Given the description of an element on the screen output the (x, y) to click on. 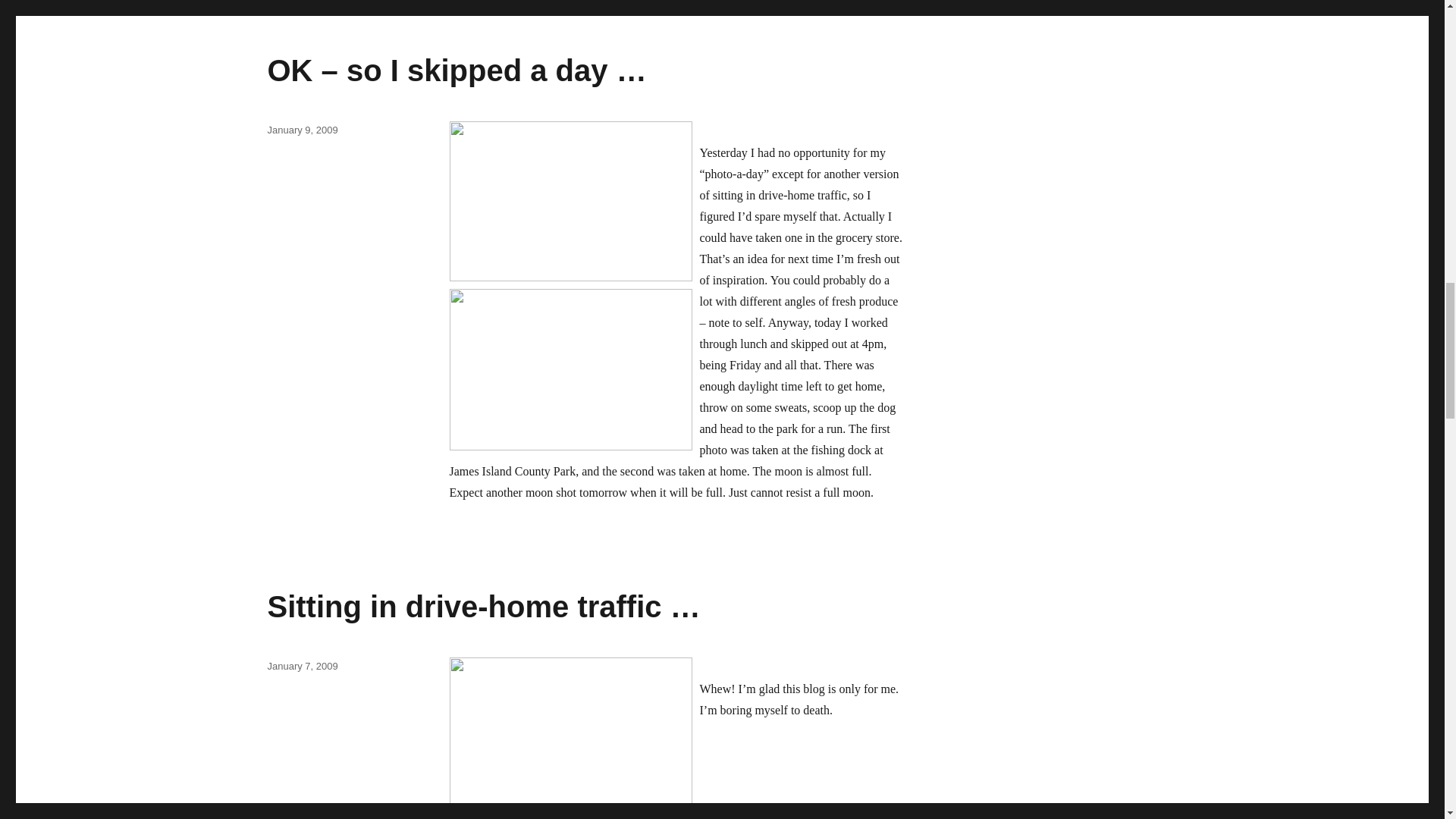
January 7, 2009 (301, 665)
January 9, 2009 (301, 129)
